Given the description of an element on the screen output the (x, y) to click on. 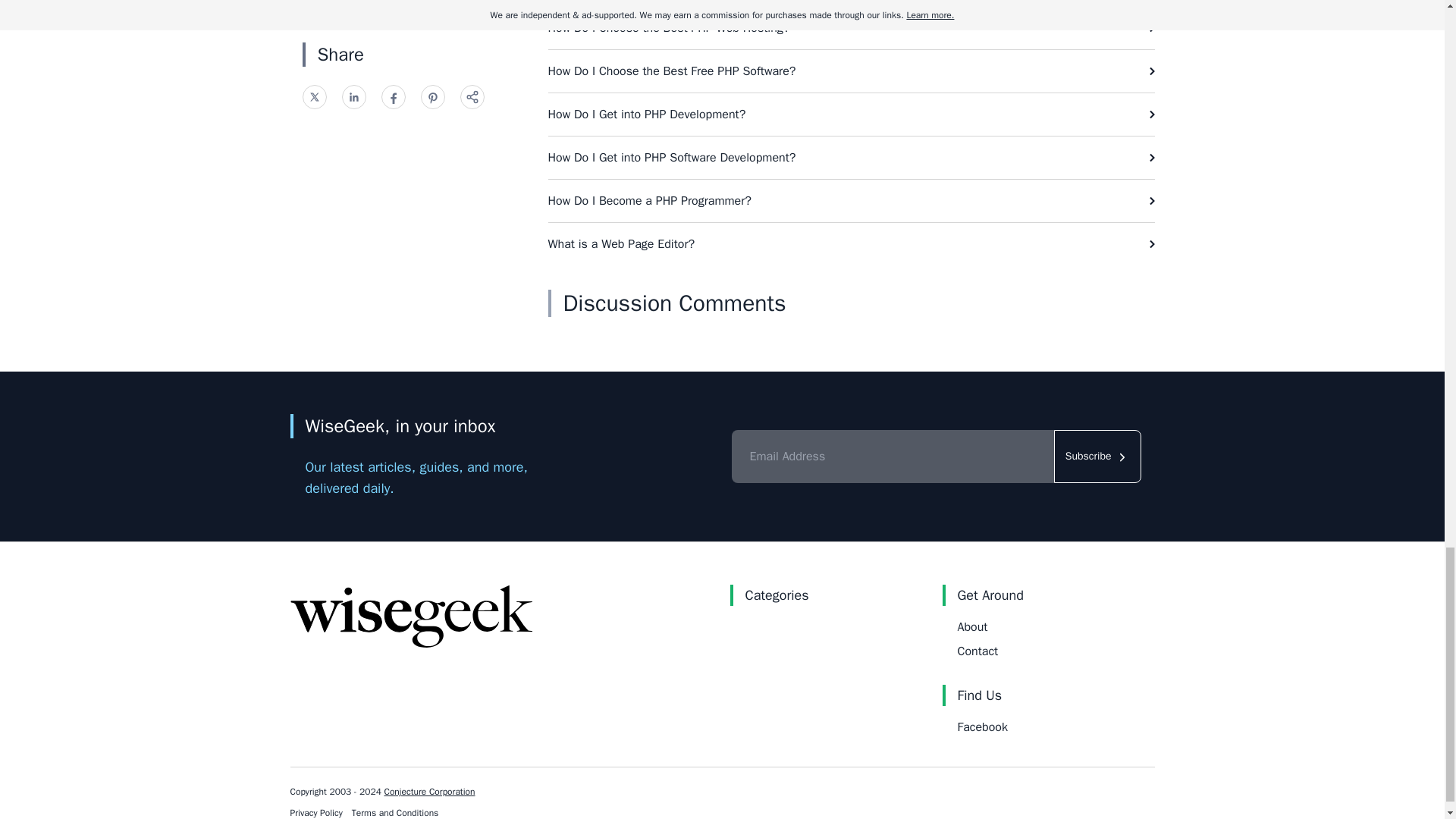
How Do I Get into PHP Development? (850, 114)
What is a Web Page Editor? (850, 243)
How Do I Choose the Best PHP Web Hosting? (850, 27)
How Do I Choose the Best Free PHP Software? (850, 70)
How Do I Get into PHP Software Development? (850, 157)
How Do I Become a PHP Programmer? (850, 200)
